Given the description of an element on the screen output the (x, y) to click on. 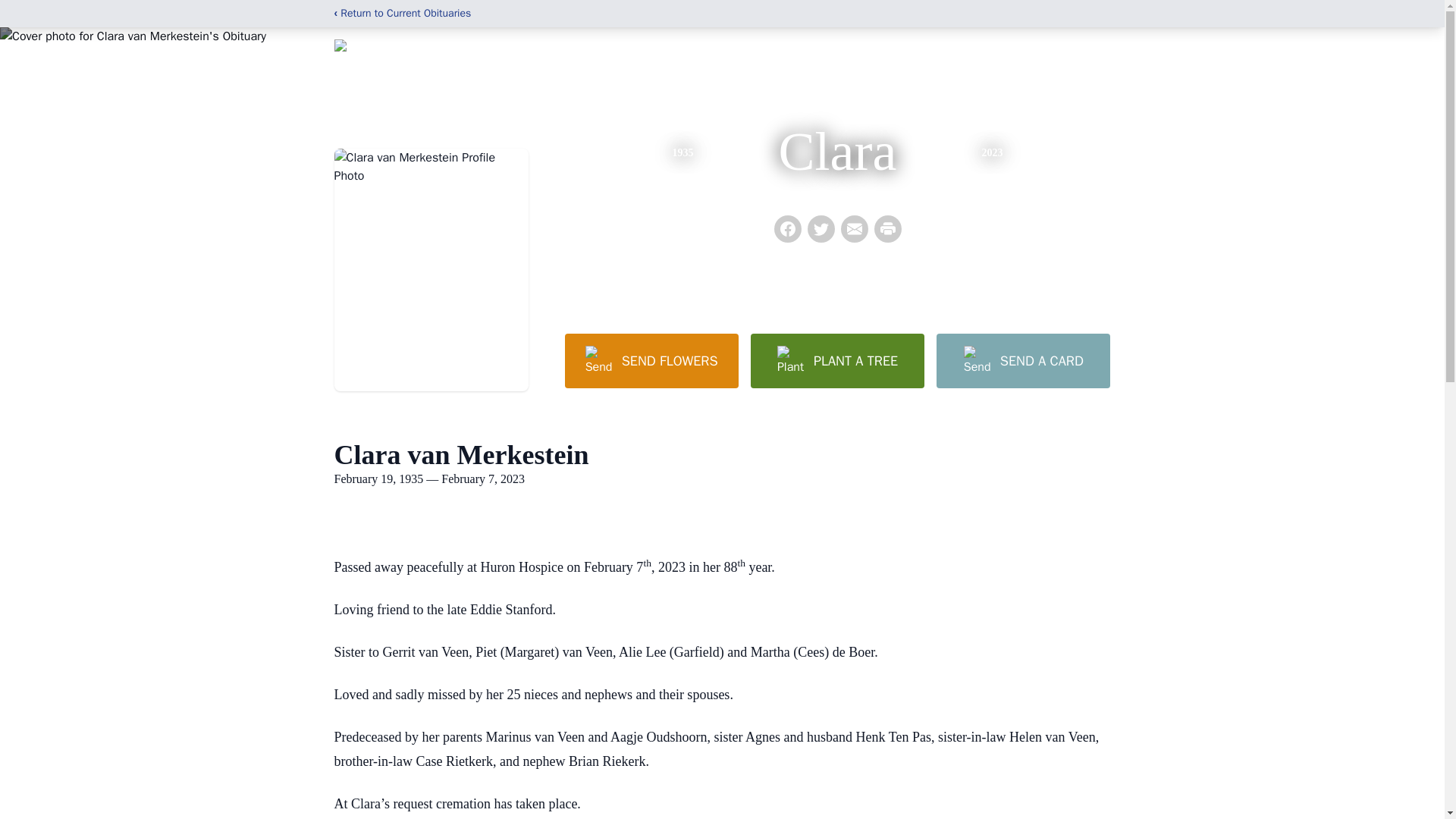
PLANT A TREE (837, 360)
SEND A CARD (1022, 360)
SEND FLOWERS (651, 360)
